Given the description of an element on the screen output the (x, y) to click on. 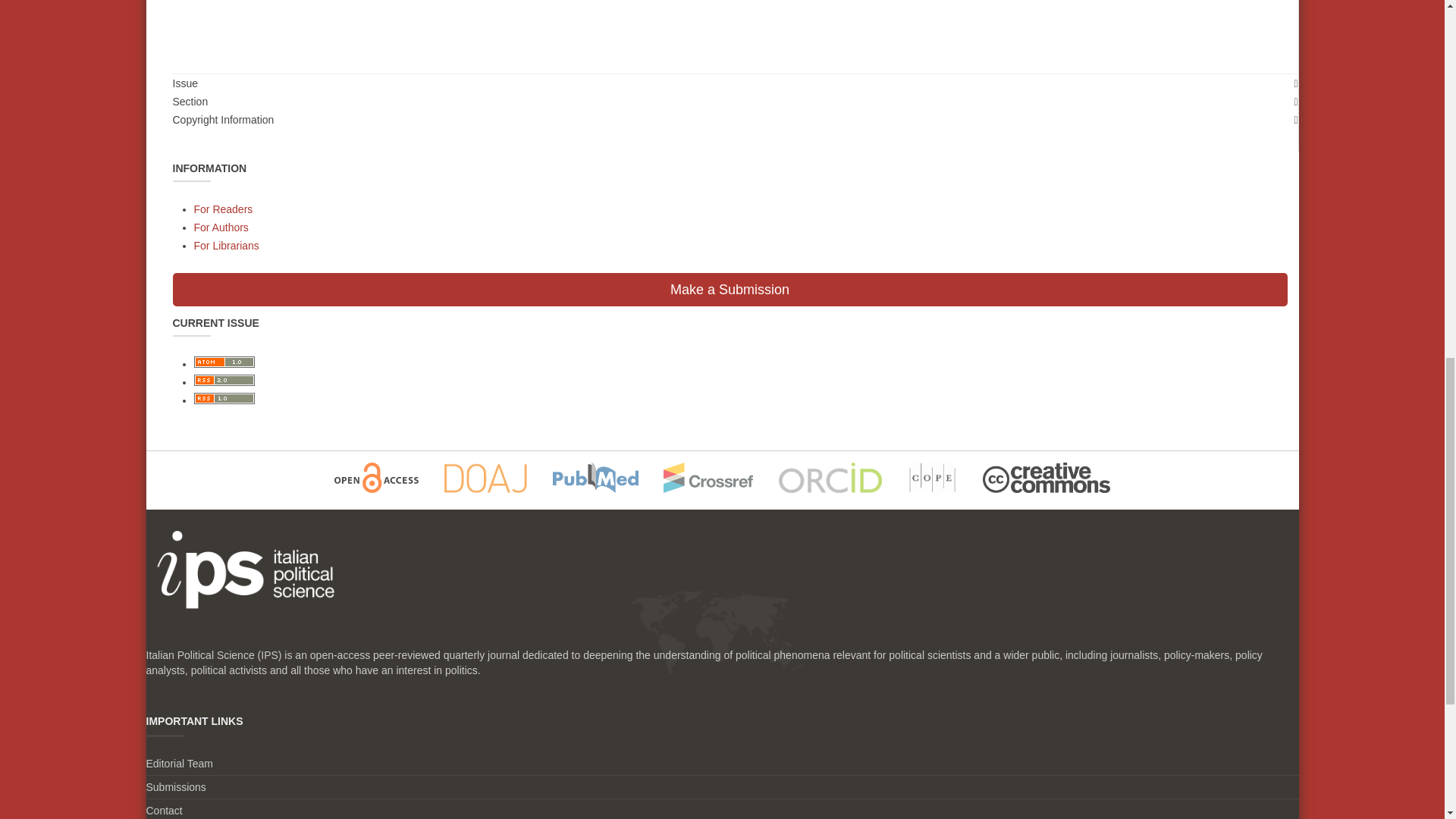
Submissions (175, 787)
Editorial Team (178, 763)
Contact (163, 810)
